Given the description of an element on the screen output the (x, y) to click on. 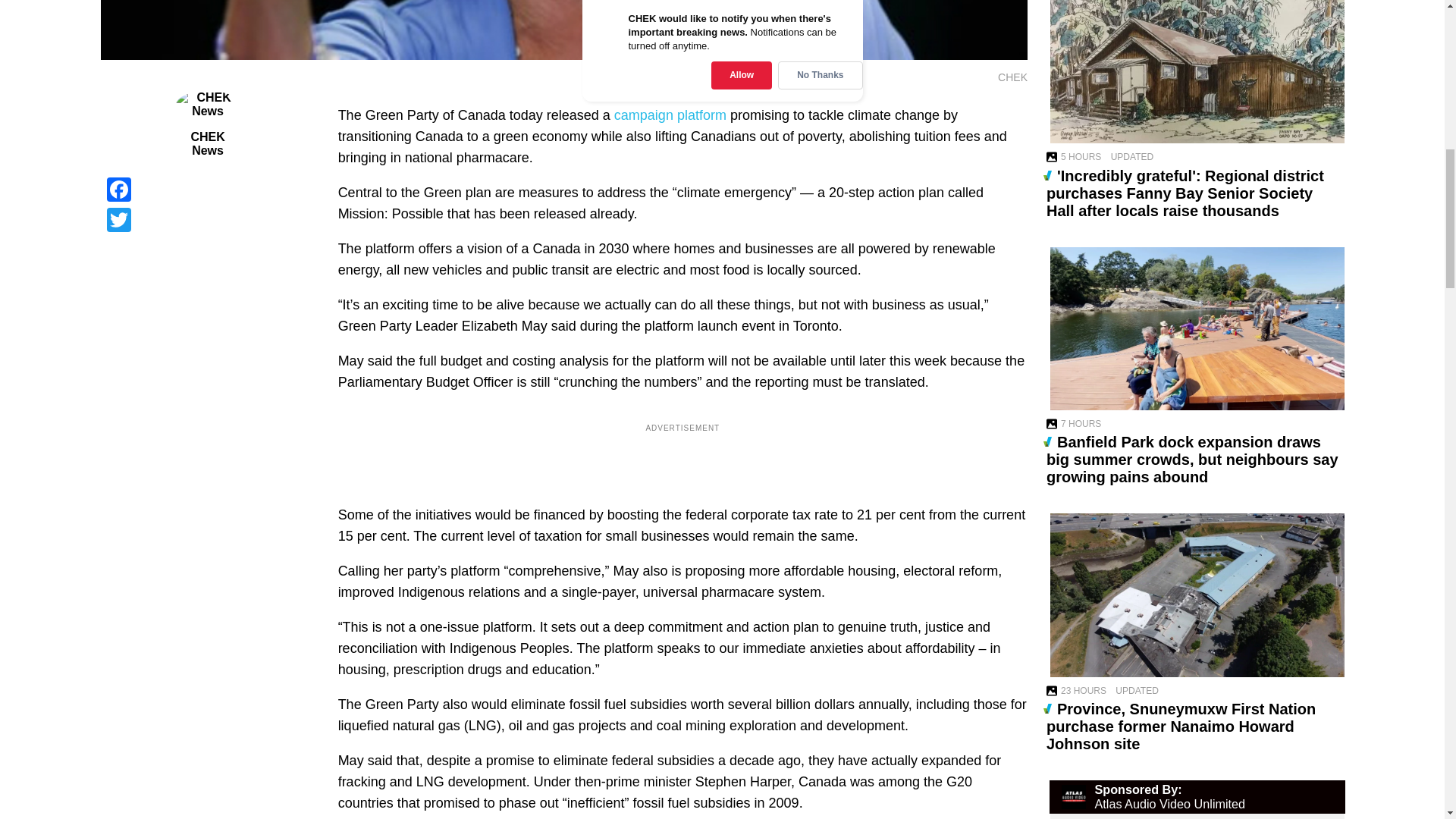
Twitter (207, 219)
Facebook (207, 189)
